Given the description of an element on the screen output the (x, y) to click on. 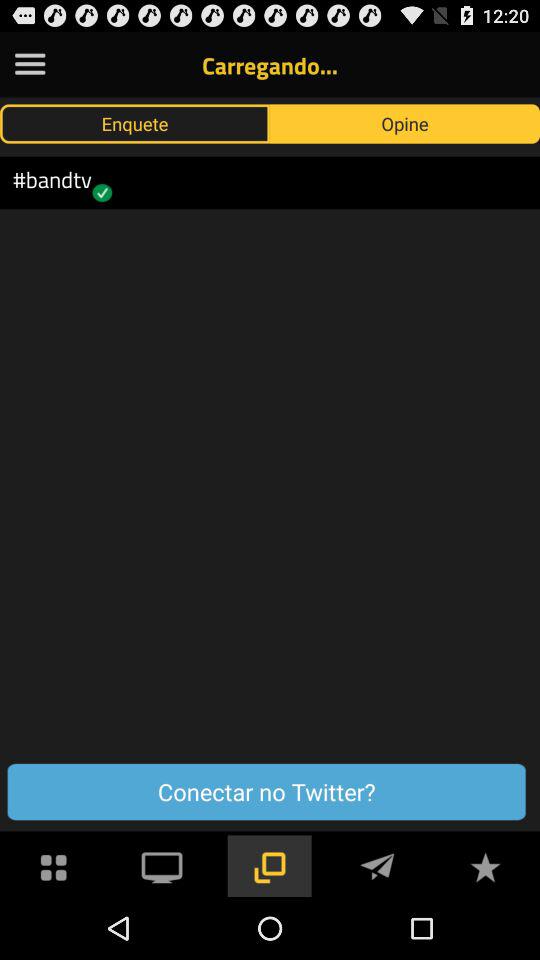
select icon next to the carregando... icon (29, 64)
